Given the description of an element on the screen output the (x, y) to click on. 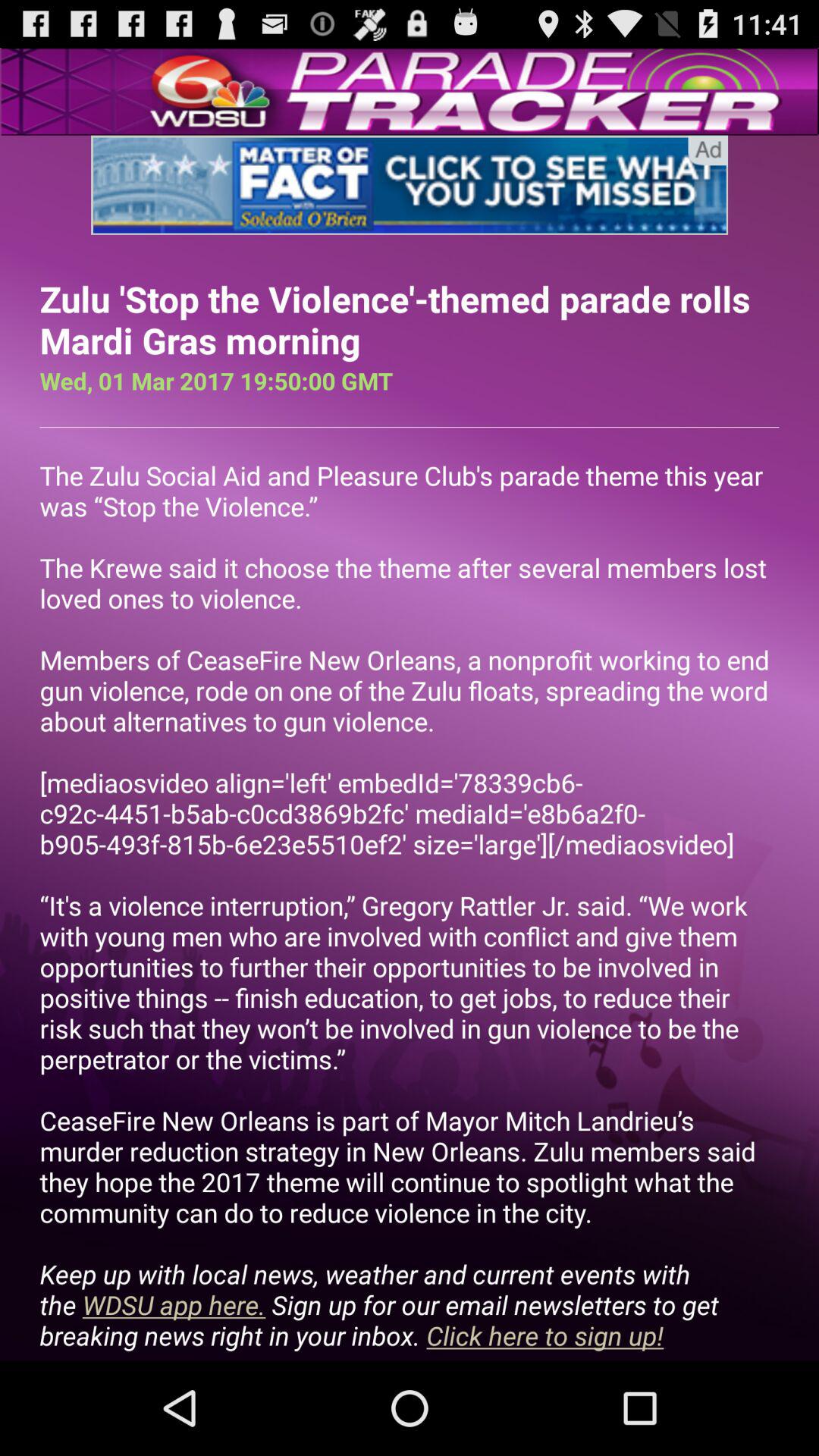
advertisement at top (409, 184)
